Given the description of an element on the screen output the (x, y) to click on. 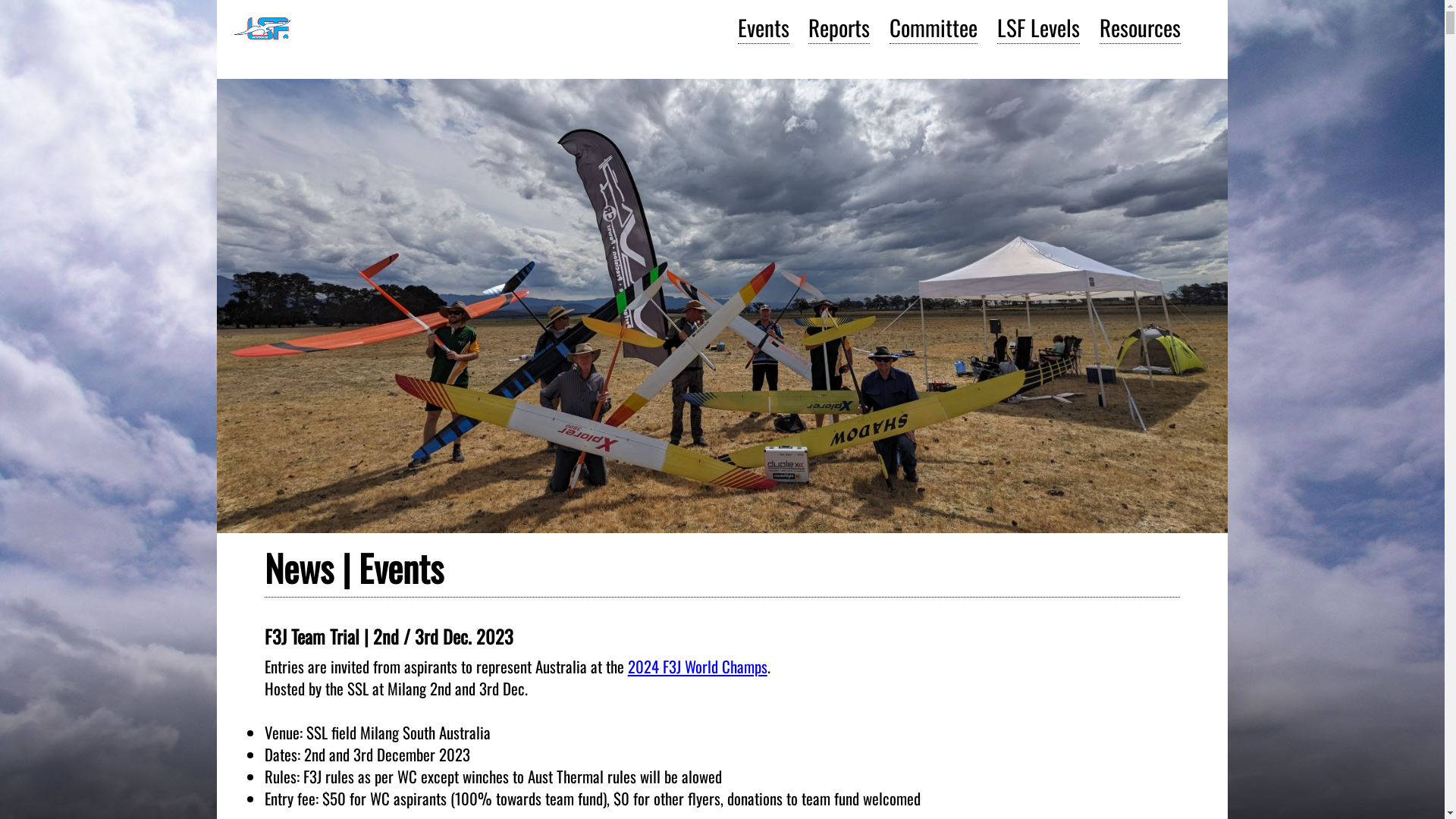
LSF Levels Element type: text (1038, 26)
Events Element type: text (763, 26)
Committee Element type: text (933, 26)
Resources Element type: text (1139, 26)
Reports Element type: text (838, 26)
2024 F3J World Champs Element type: text (697, 665)
